Given the description of an element on the screen output the (x, y) to click on. 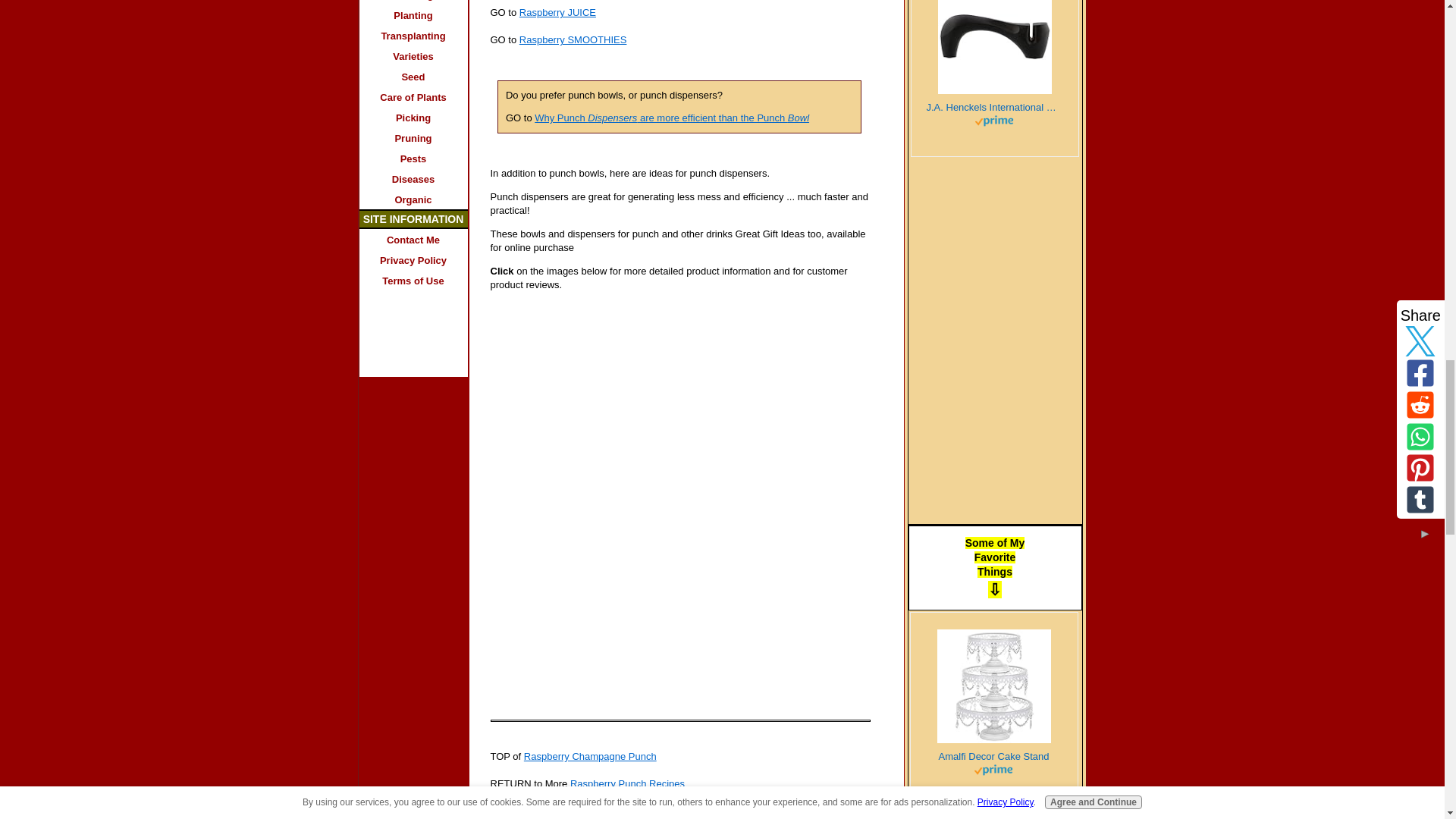
Raspberry SMOOTHIES (573, 39)
Raspberry Champagne Punch (590, 756)
Raspberry Punch Recipes (627, 783)
Why Punch Dispensers are more efficient than the Punch Bowl (671, 118)
J.A. Henckels International Hand Sharpener (994, 107)
J.A. Henckels International Hand Sharpener (994, 47)
Raspberry JUICE (557, 12)
Black Raspberries (995, 243)
Homepage (558, 810)
